Given the description of an element on the screen output the (x, y) to click on. 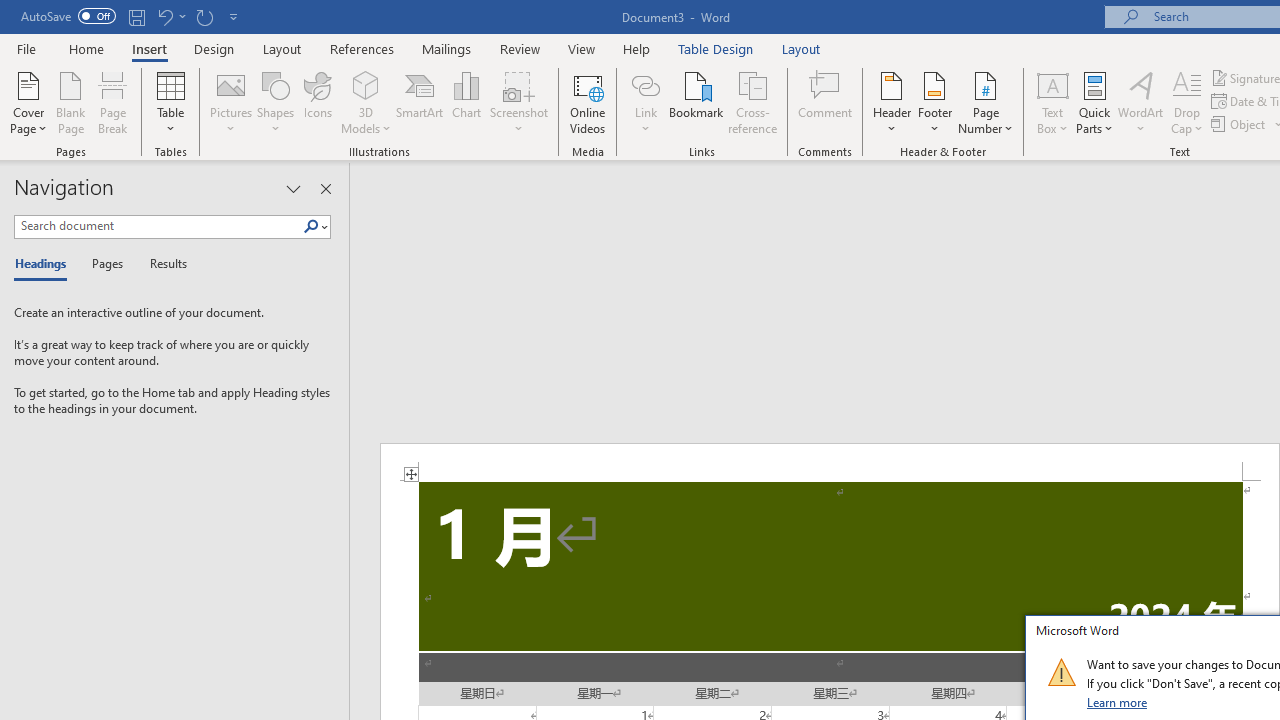
Chart... (466, 102)
Learn more (1118, 702)
Page Number (986, 102)
Online Videos... (588, 102)
